Given the description of an element on the screen output the (x, y) to click on. 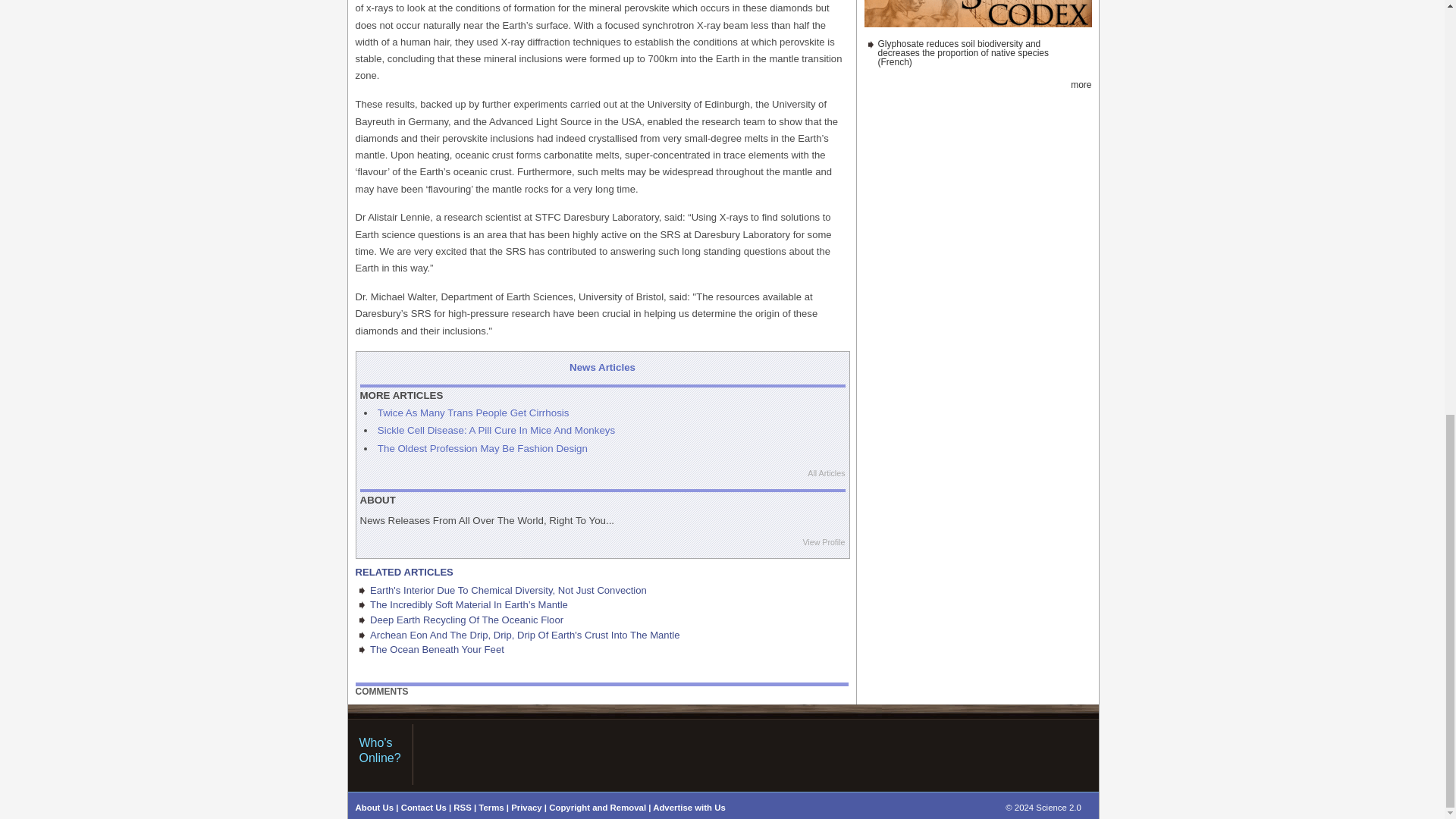
View this feed's recent news. (1080, 84)
Copyright Terms. (597, 807)
Your Rights to Privacy. (526, 807)
Our Terms of Use. (491, 807)
